Given the description of an element on the screen output the (x, y) to click on. 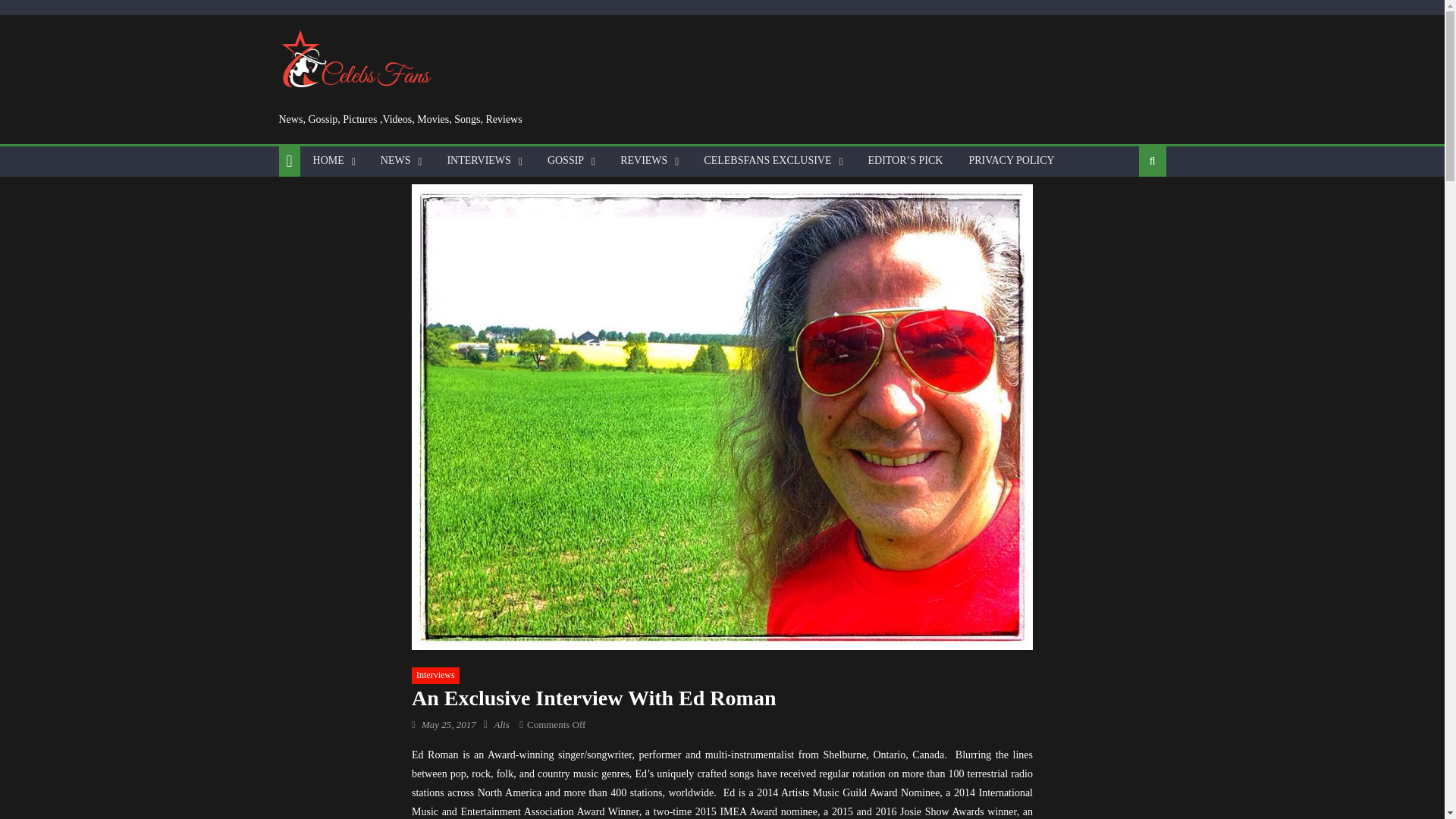
May 25, 2017 (449, 724)
CELEBSFANS EXCLUSIVE (768, 160)
Search (1128, 210)
INTERVIEWS (478, 160)
GOSSIP (565, 160)
HOME (328, 160)
Alis (500, 724)
REVIEWS (643, 160)
PRIVACY POLICY (1010, 160)
Interviews (436, 675)
NEWS (395, 160)
